Given the description of an element on the screen output the (x, y) to click on. 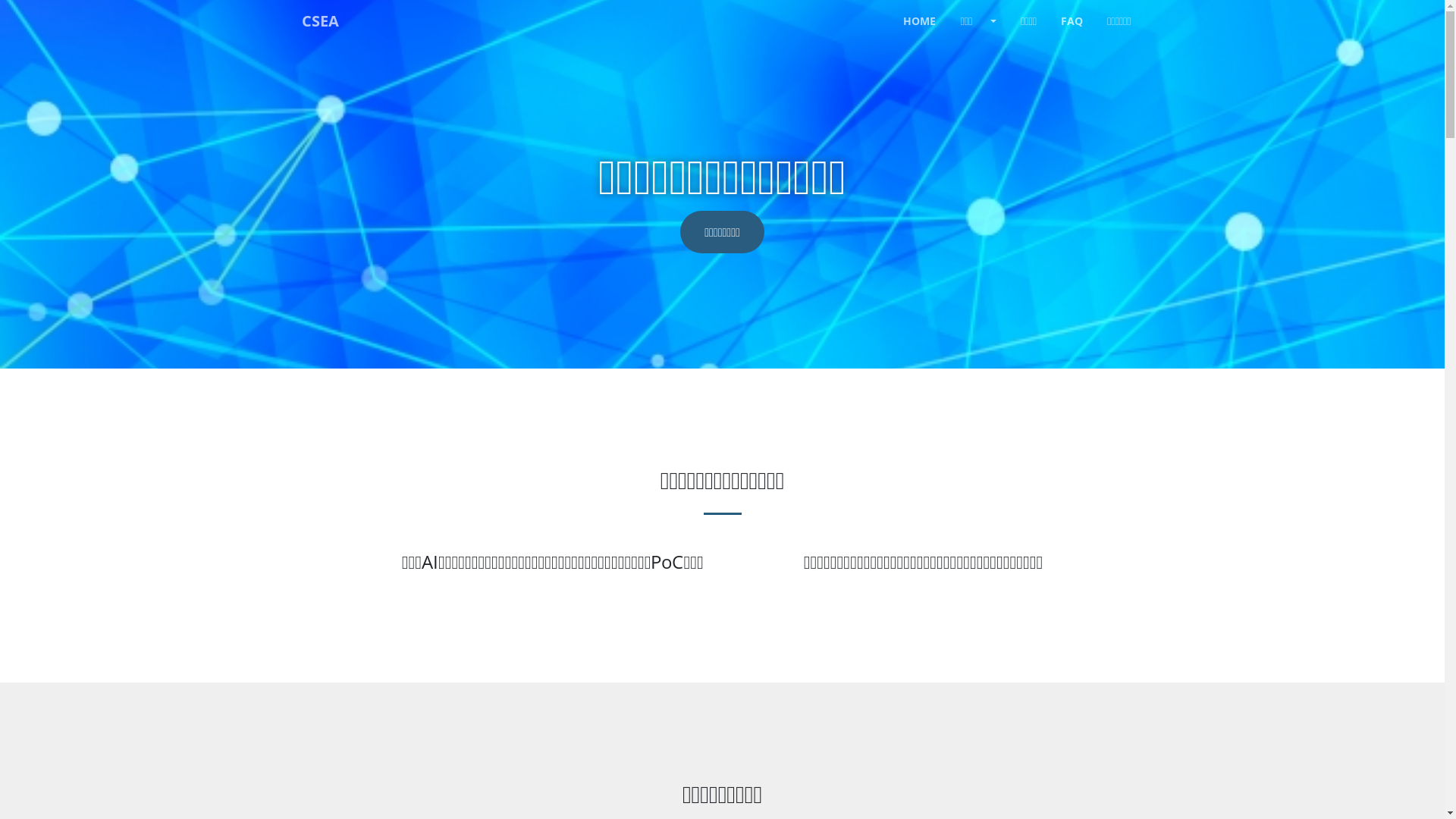
CSEA Element type: text (319, 21)
HOME Element type: text (919, 20)
FAQ Element type: text (1071, 20)
